Given the description of an element on the screen output the (x, y) to click on. 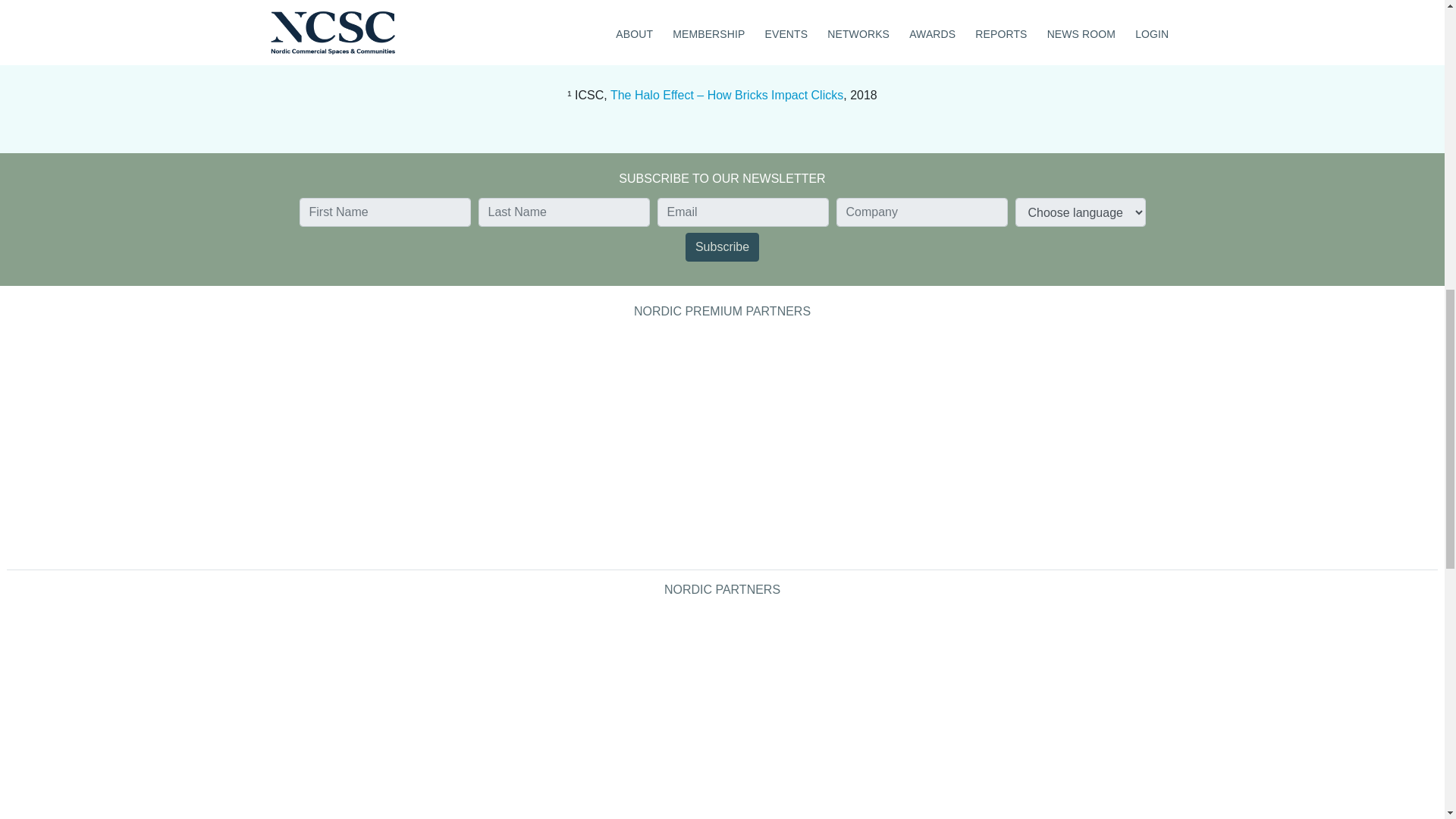
Subscribe (721, 246)
